Given the description of an element on the screen output the (x, y) to click on. 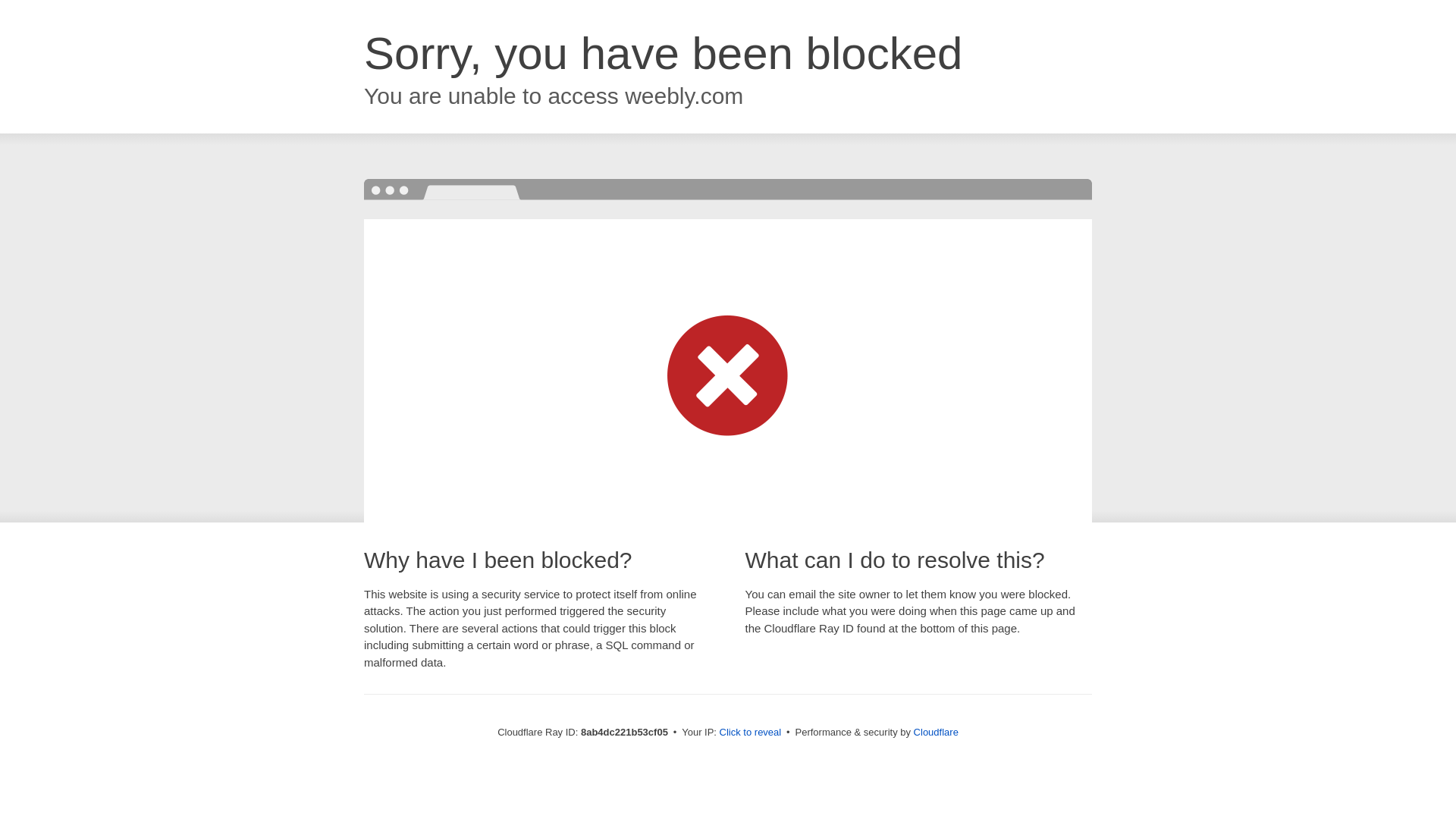
Cloudflare (936, 731)
Click to reveal (750, 732)
